Given the description of an element on the screen output the (x, y) to click on. 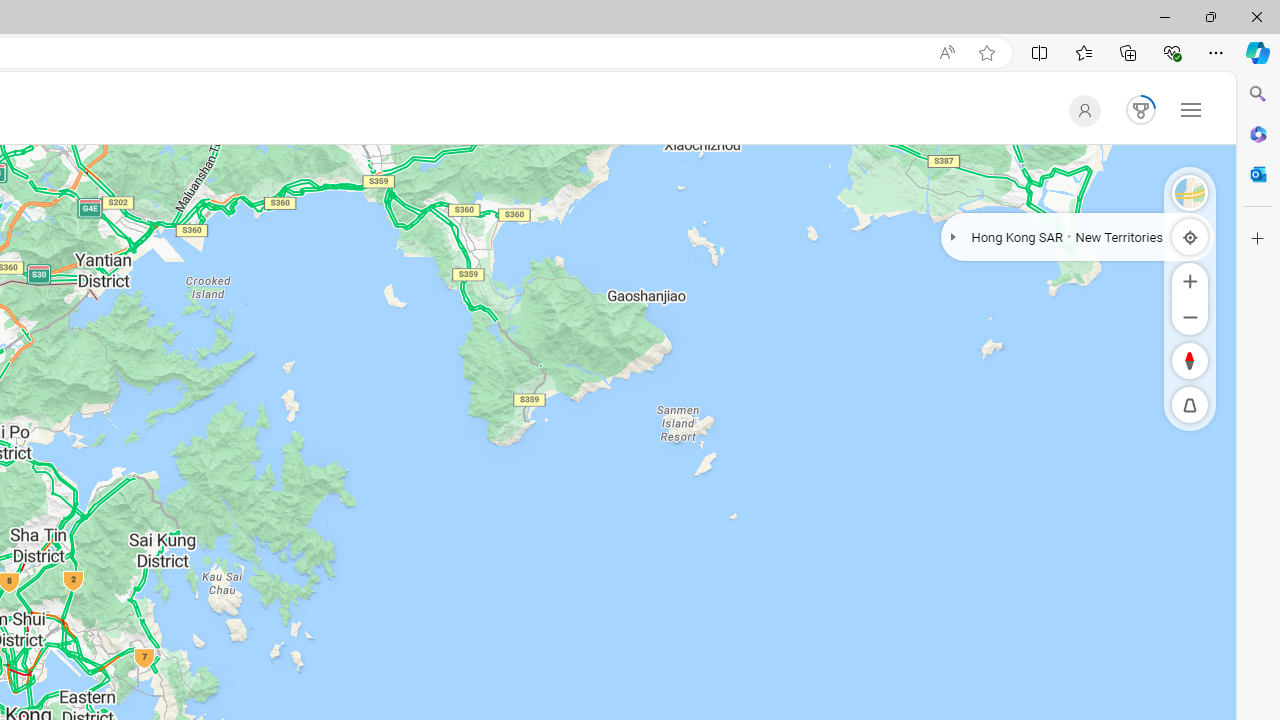
Expand/Collapse Geochain (953, 236)
Microsoft Rewards  (1136, 110)
AutomationID: rh_meter (1140, 110)
Rotate Right (1171, 360)
Bird's eye (1190, 192)
Streetside (1190, 192)
Reset to Default Pitch (1190, 405)
